Given the description of an element on the screen output the (x, y) to click on. 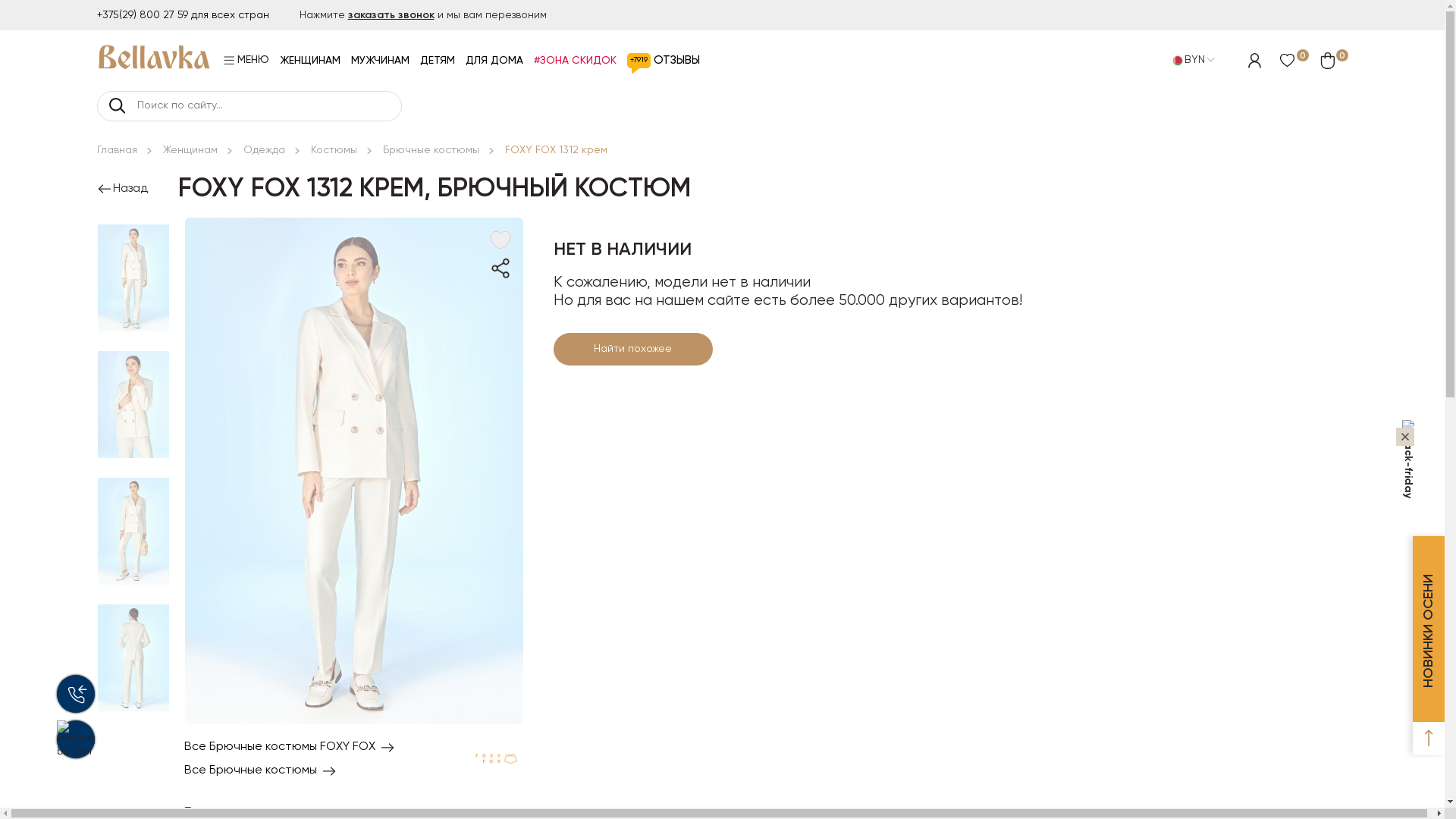
Close Element type: hover (1405, 436)
0 Element type: text (1297, 60)
Next Element type: text (133, 730)
Previous Element type: text (133, 217)
0 Element type: text (1332, 60)
